Given the description of an element on the screen output the (x, y) to click on. 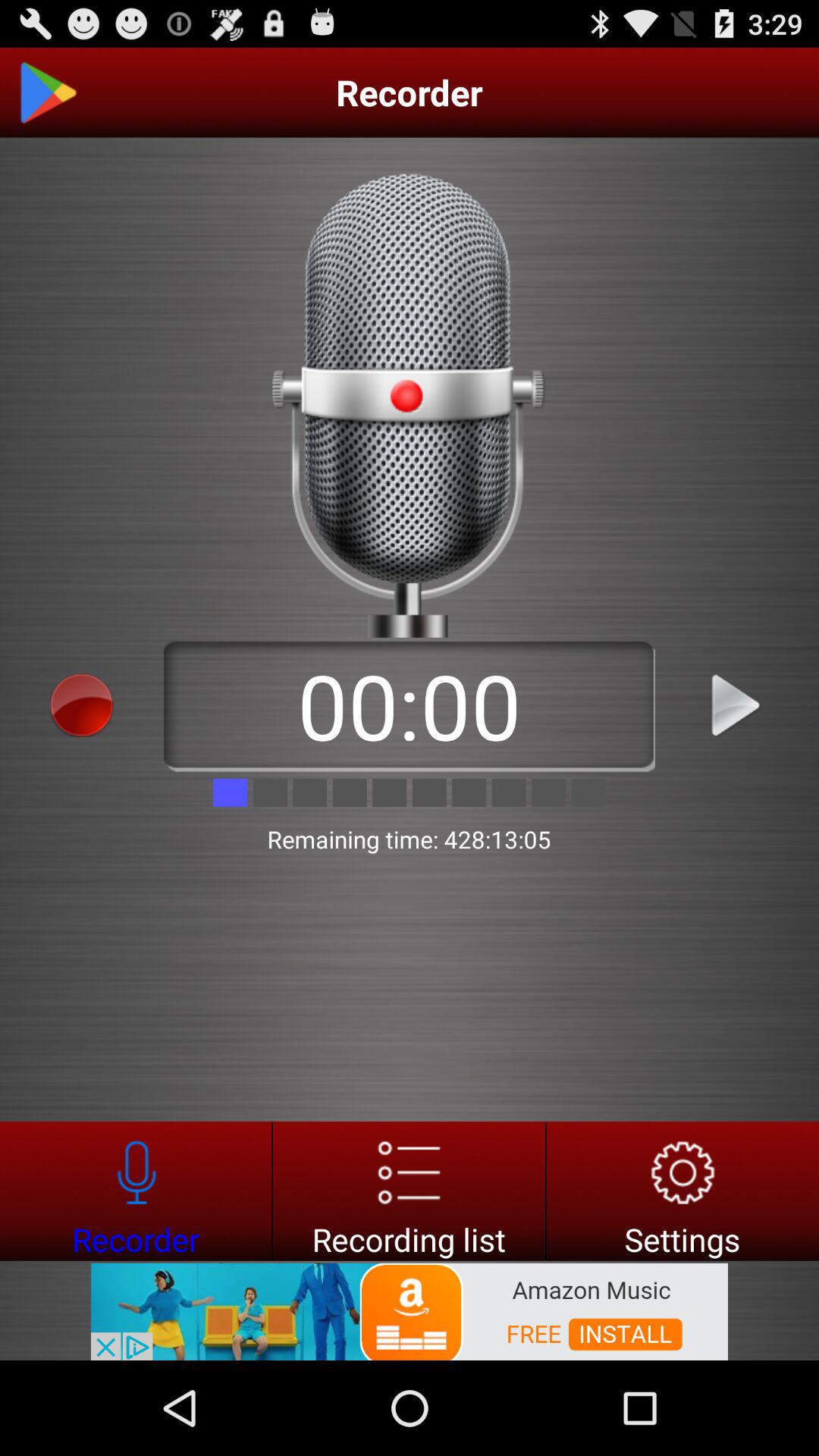
start recording (81, 705)
